Given the description of an element on the screen output the (x, y) to click on. 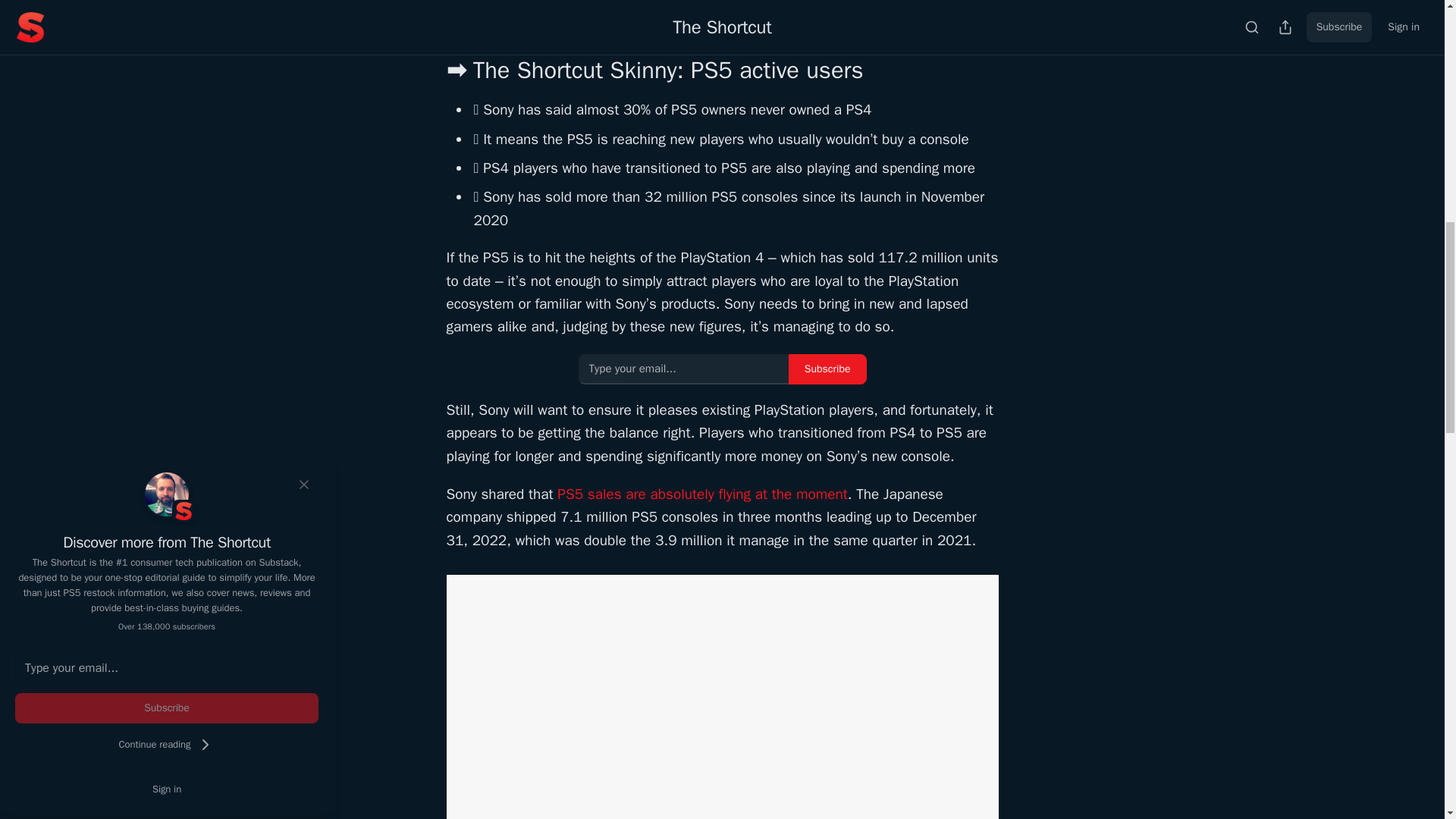
Subscribe (166, 707)
Sign in (166, 788)
PS5 sales are absolutely flying at the moment (702, 494)
Subscribe (827, 368)
